Given the description of an element on the screen output the (x, y) to click on. 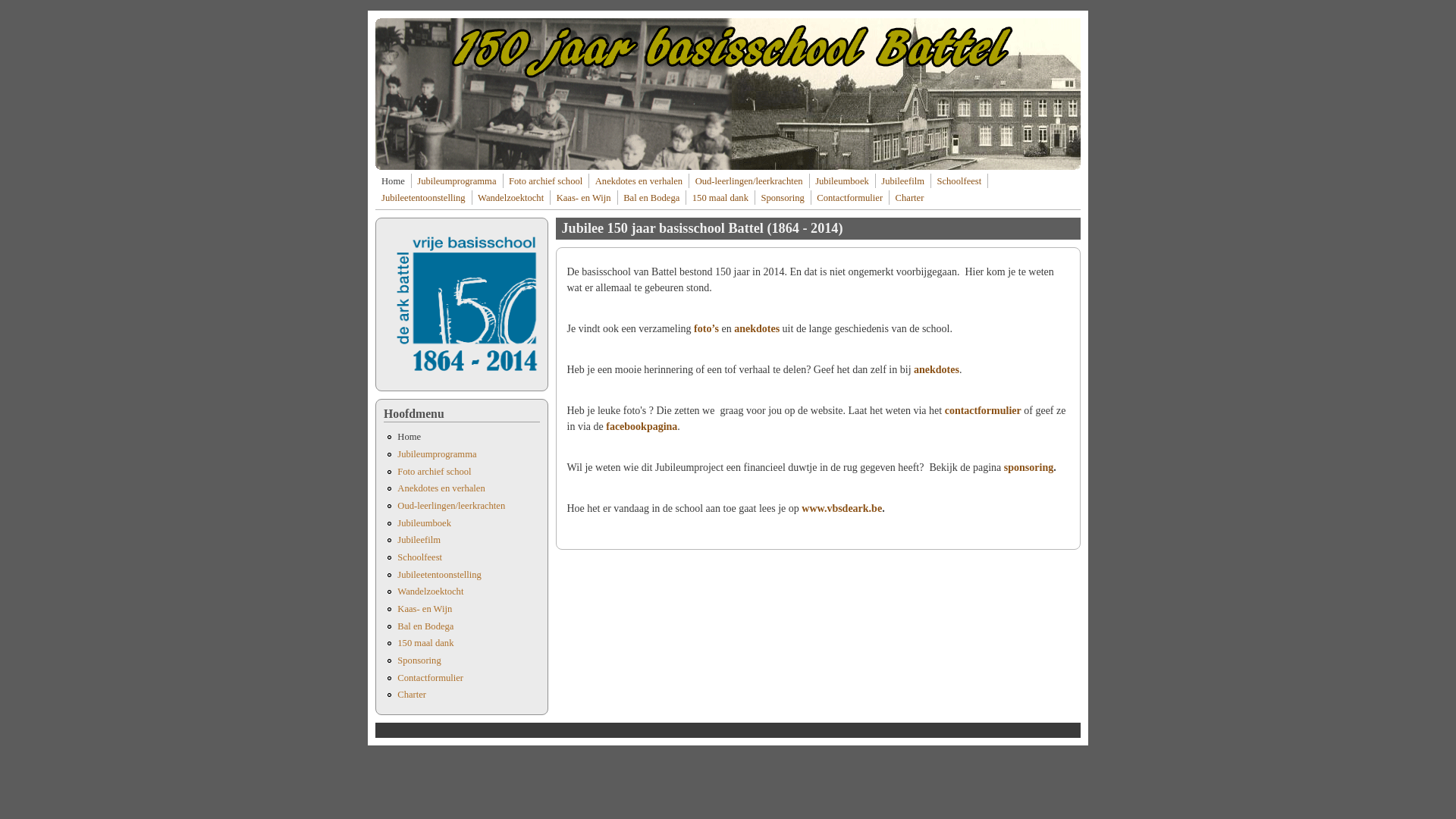
Kaas- en Wijn Element type: text (424, 608)
www.vbsdeark.be Element type: text (841, 508)
Wandelzoektocht Element type: text (430, 591)
Jubileumboek Element type: text (842, 181)
Anekdotes en verhalen Element type: text (440, 488)
Bal en Bodega Element type: text (425, 626)
Home Element type: text (408, 436)
Jubileumboek Element type: text (424, 522)
Foto archief school Element type: text (545, 181)
Schoolfeest Element type: text (419, 557)
Contactformulier Element type: text (849, 197)
Oud-leerlingen/leerkrachten Element type: text (749, 181)
Charter Element type: text (411, 694)
Sponsoring Element type: text (418, 660)
Jubileumprogramma Element type: text (436, 453)
Schoolfeest Element type: text (958, 181)
Bal en Bodega Element type: text (651, 197)
Wandelzoektocht Element type: text (510, 197)
Foto archief school Element type: text (433, 471)
Kaas- en Wijn Element type: text (583, 197)
Jubileefilm Element type: text (418, 539)
Overslaan en naar de inhoud gaan Element type: text (72, 10)
Charter Element type: text (909, 197)
150 maal dank Element type: text (720, 197)
Oud-leerlingen/leerkrachten Element type: text (451, 505)
Jubileetentoonstelling Element type: text (439, 574)
anekdotes Element type: text (936, 369)
Anekdotes en verhalen Element type: text (638, 181)
Contactformulier Element type: text (430, 677)
Home Element type: text (392, 181)
Jubileefilm Element type: text (902, 181)
contactformulier Element type: text (982, 410)
anekdotes Element type: text (756, 328)
Jubileumprogramma Element type: text (456, 181)
Jubileetentoonstelling Element type: text (423, 197)
Sponsoring Element type: text (781, 197)
sponsoring Element type: text (1028, 467)
facebookpagina Element type: text (641, 426)
150 maal dank Element type: text (425, 642)
